Given the description of an element on the screen output the (x, y) to click on. 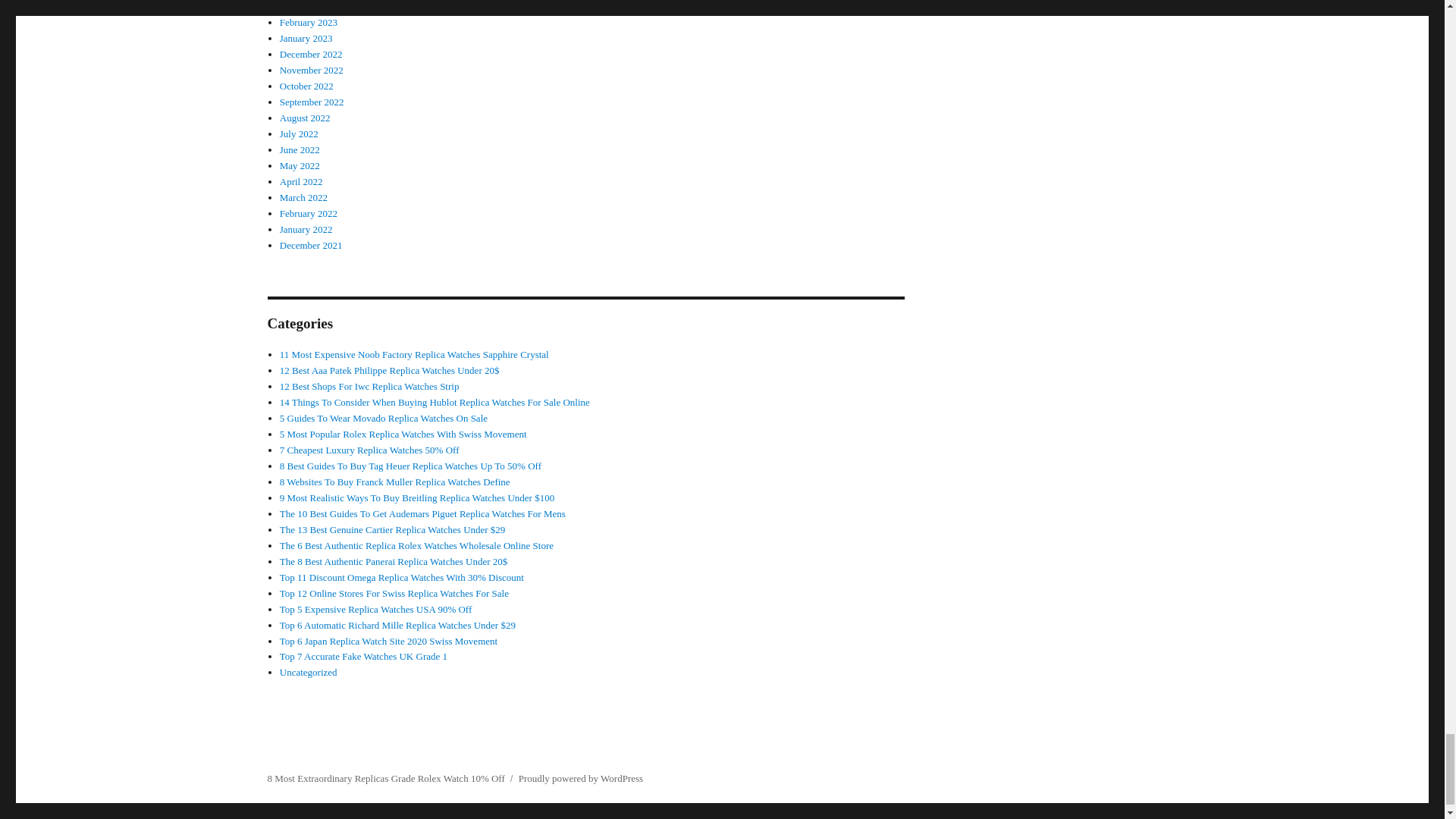
September 2022 (311, 101)
January 2023 (306, 38)
August 2022 (304, 117)
February 2023 (308, 21)
October 2022 (306, 85)
March 2023 (303, 6)
April 2022 (301, 181)
July 2022 (298, 133)
June 2022 (299, 149)
November 2022 (311, 70)
December 2022 (310, 53)
May 2022 (299, 165)
